Given the description of an element on the screen output the (x, y) to click on. 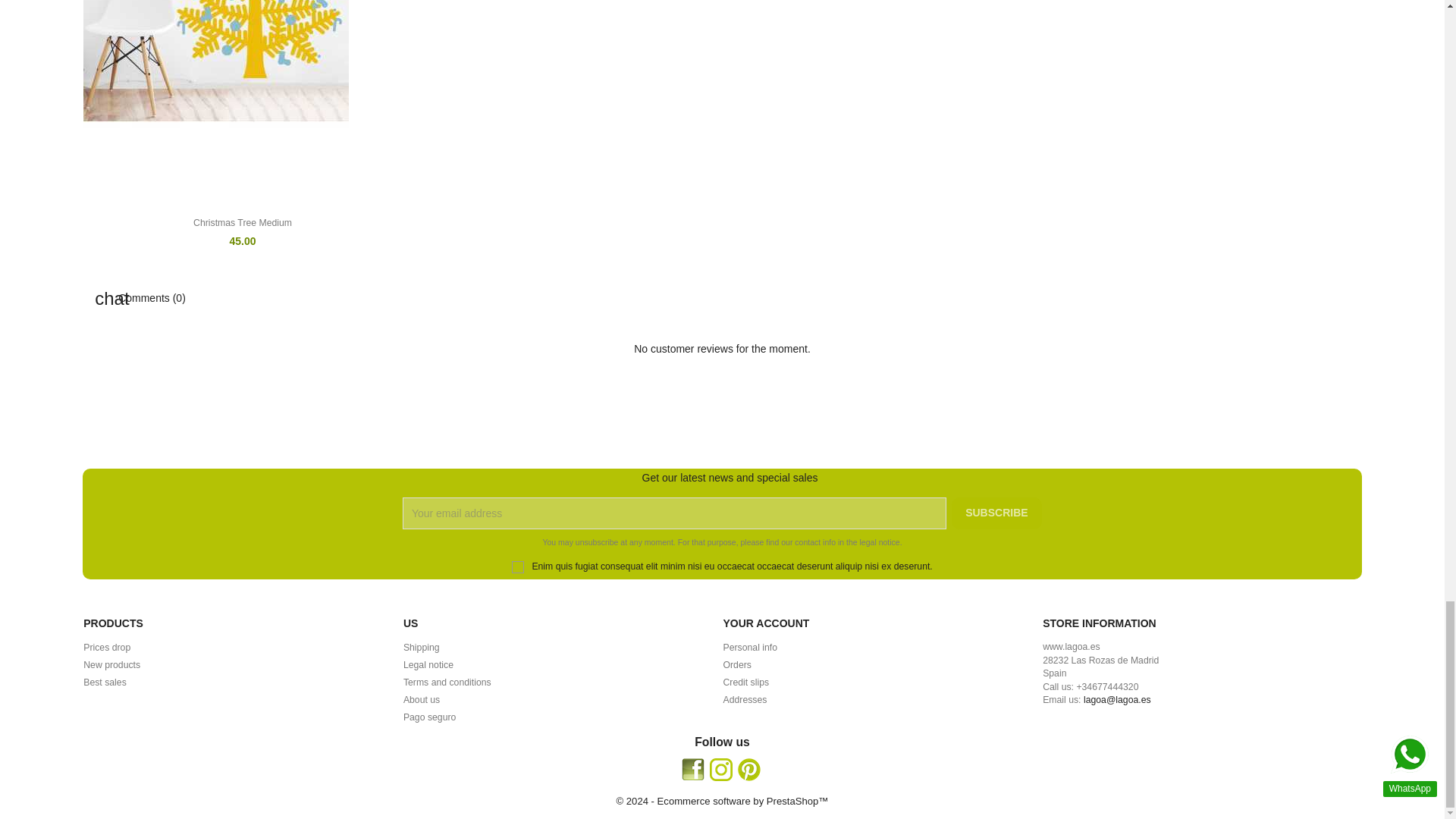
Subscribe (997, 513)
